Given the description of an element on the screen output the (x, y) to click on. 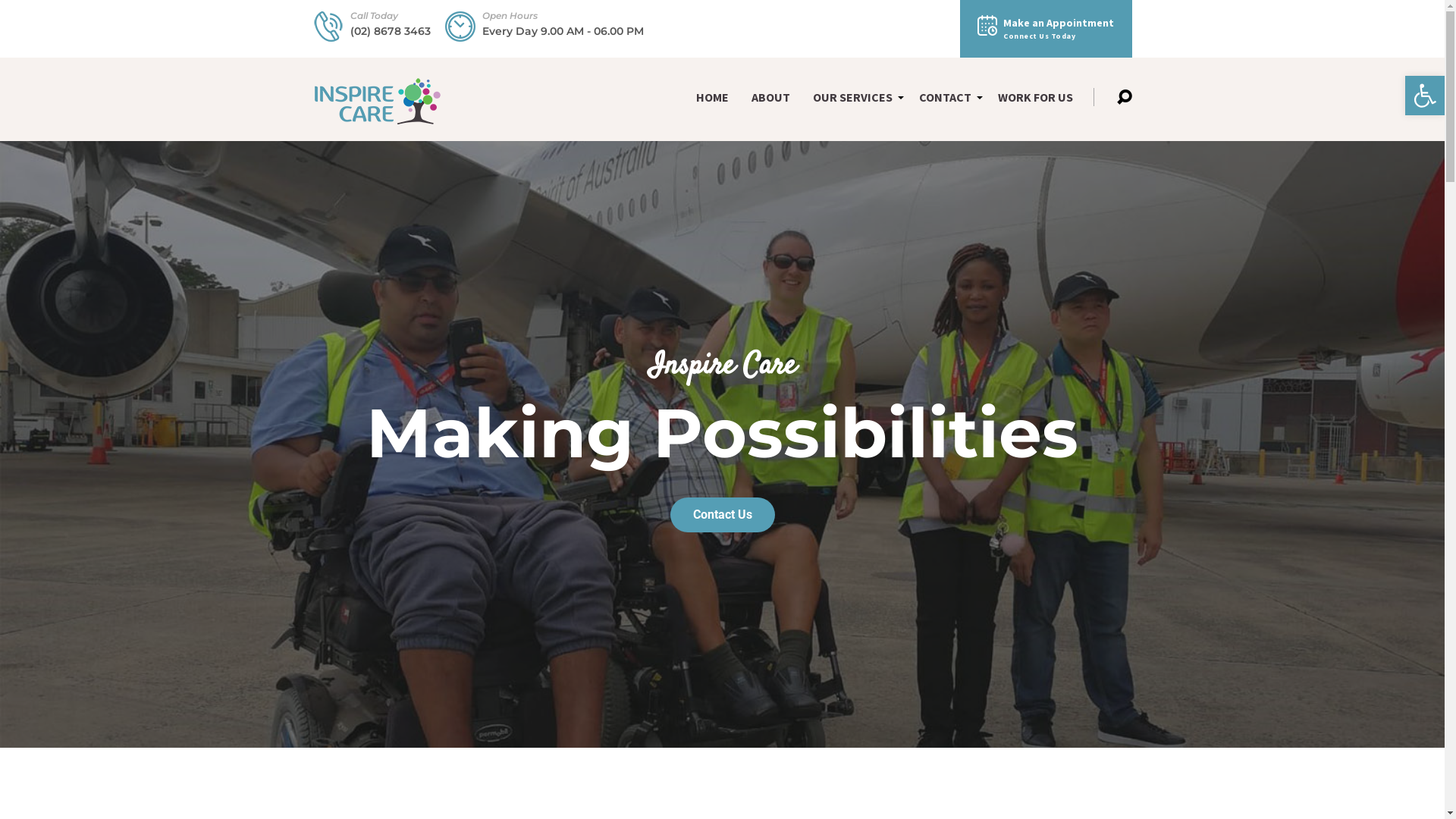
Make an Appointment
Connect Us Today Element type: text (1046, 28)
WORK FOR US Element type: text (1035, 97)
ABOUT Element type: text (769, 97)
Contact Us Element type: text (722, 514)
+
CONTACT Element type: text (947, 97)
+
OUR SERVICES Element type: text (854, 97)
Open toolbar
Accessibility Tools Element type: text (1424, 95)
HOME Element type: text (712, 97)
